Given the description of an element on the screen output the (x, y) to click on. 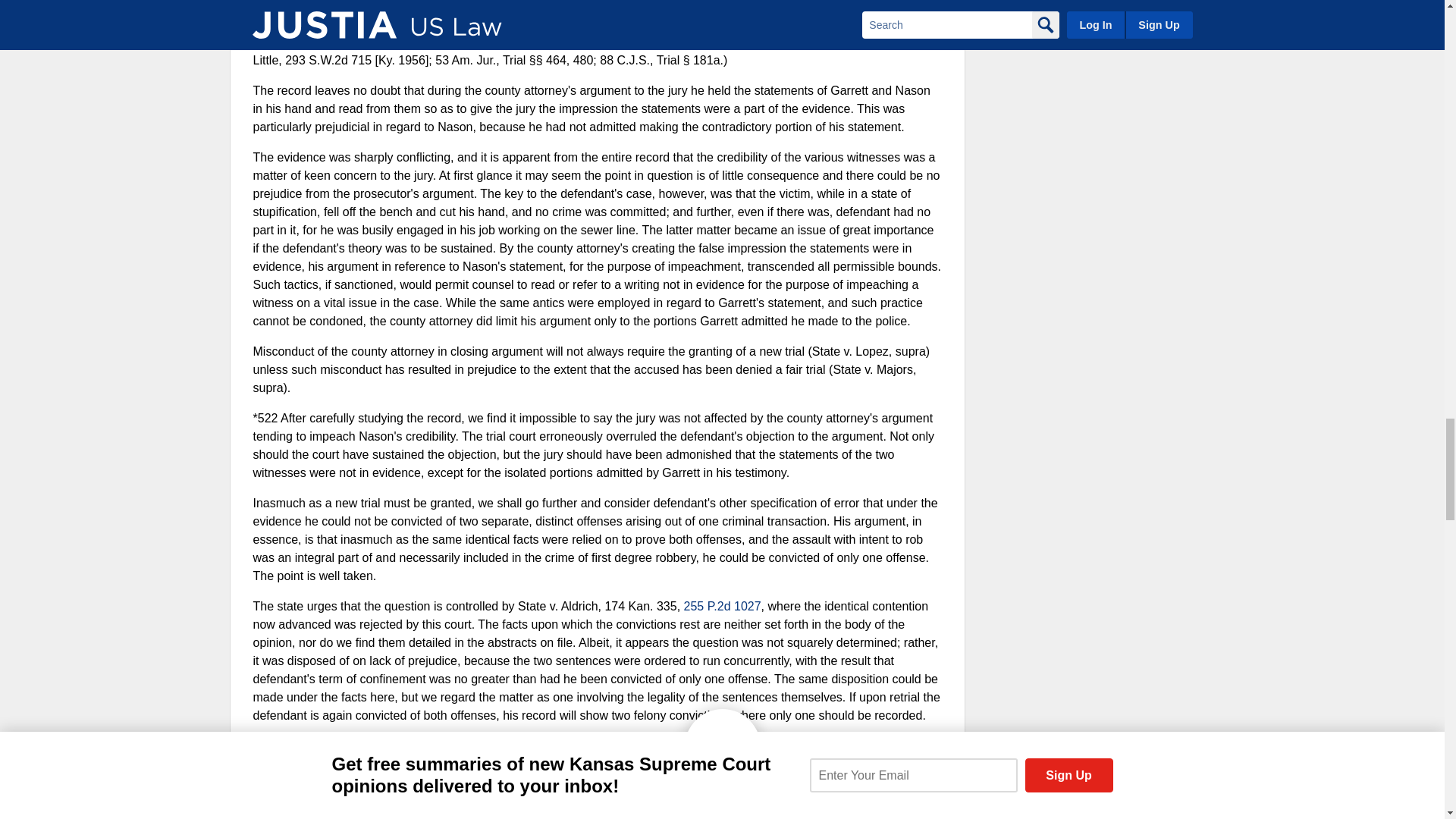
318 P.2d 662 (470, 6)
255 P.2d 1027 (722, 605)
323 P.2d 917 (584, 6)
